Given the description of an element on the screen output the (x, y) to click on. 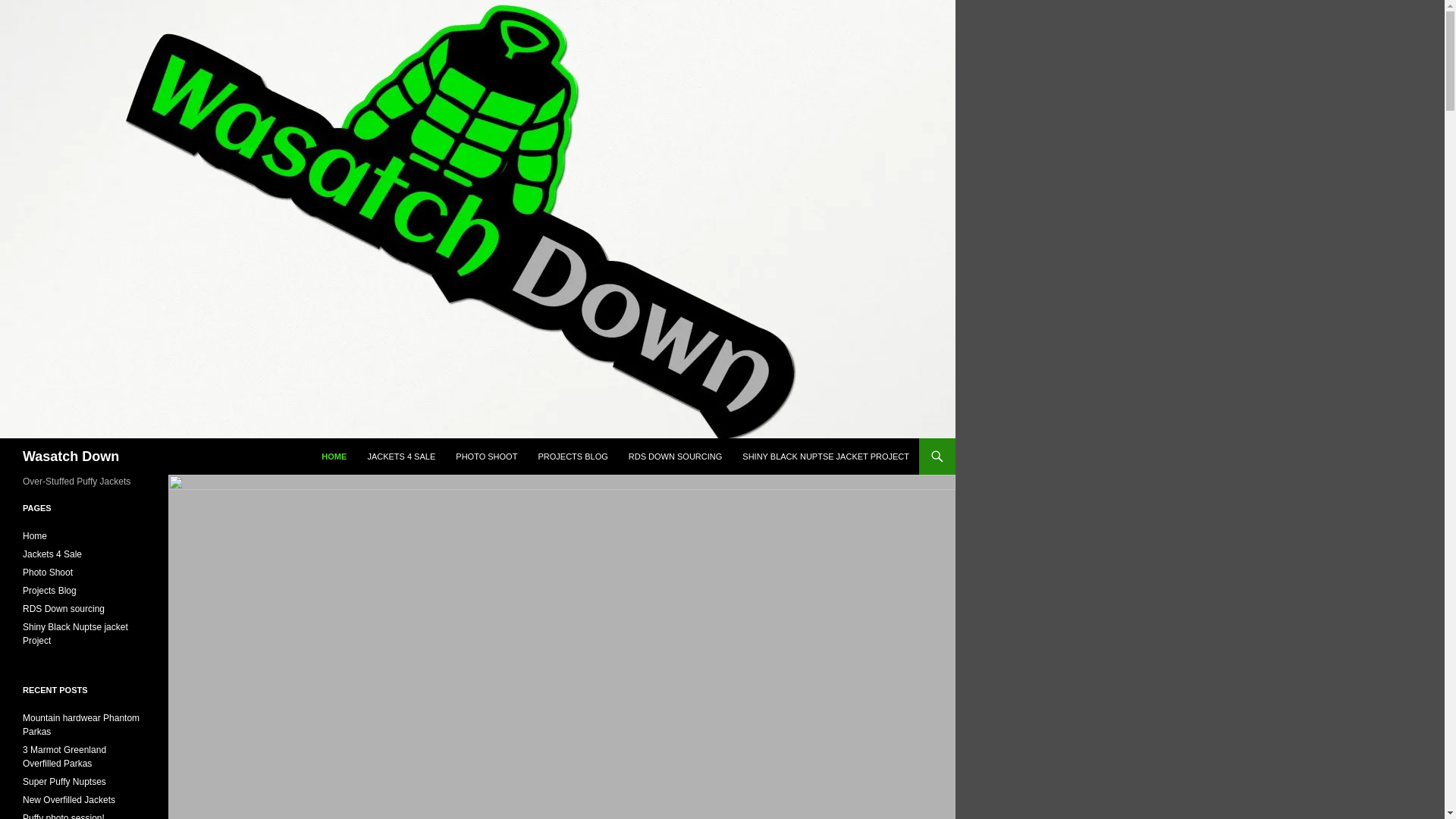
JACKETS 4 SALE (401, 456)
PHOTO SHOOT (485, 456)
Home (34, 535)
Mountain hardwear Phantom Parkas (81, 724)
Projects Blog (50, 590)
Jackets 4 Sale (52, 553)
Wasatch Down (71, 456)
RDS Down sourcing (63, 608)
